Given the description of an element on the screen output the (x, y) to click on. 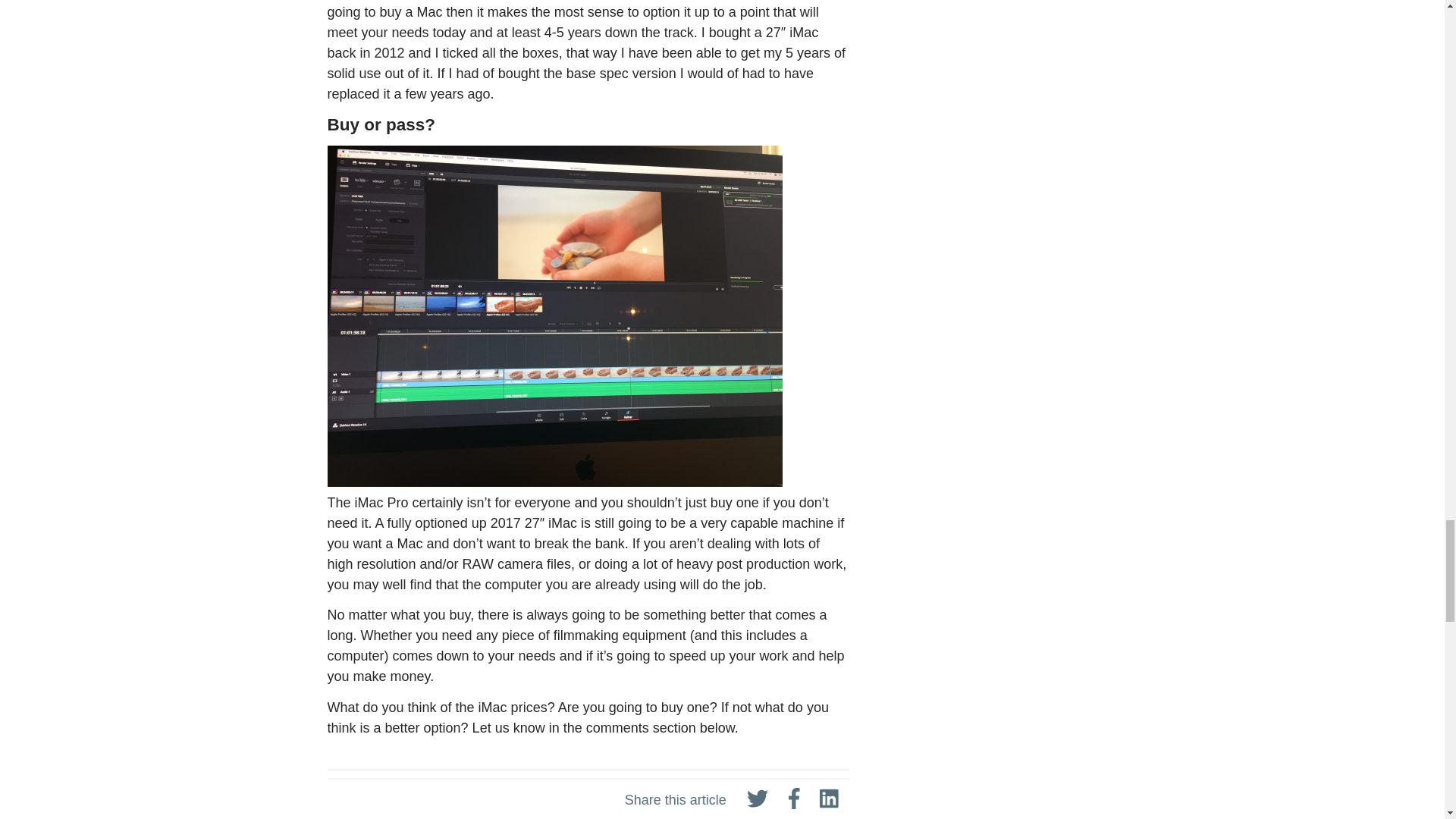
By Matthew Allard ACS (659, 801)
